Given the description of an element on the screen output the (x, y) to click on. 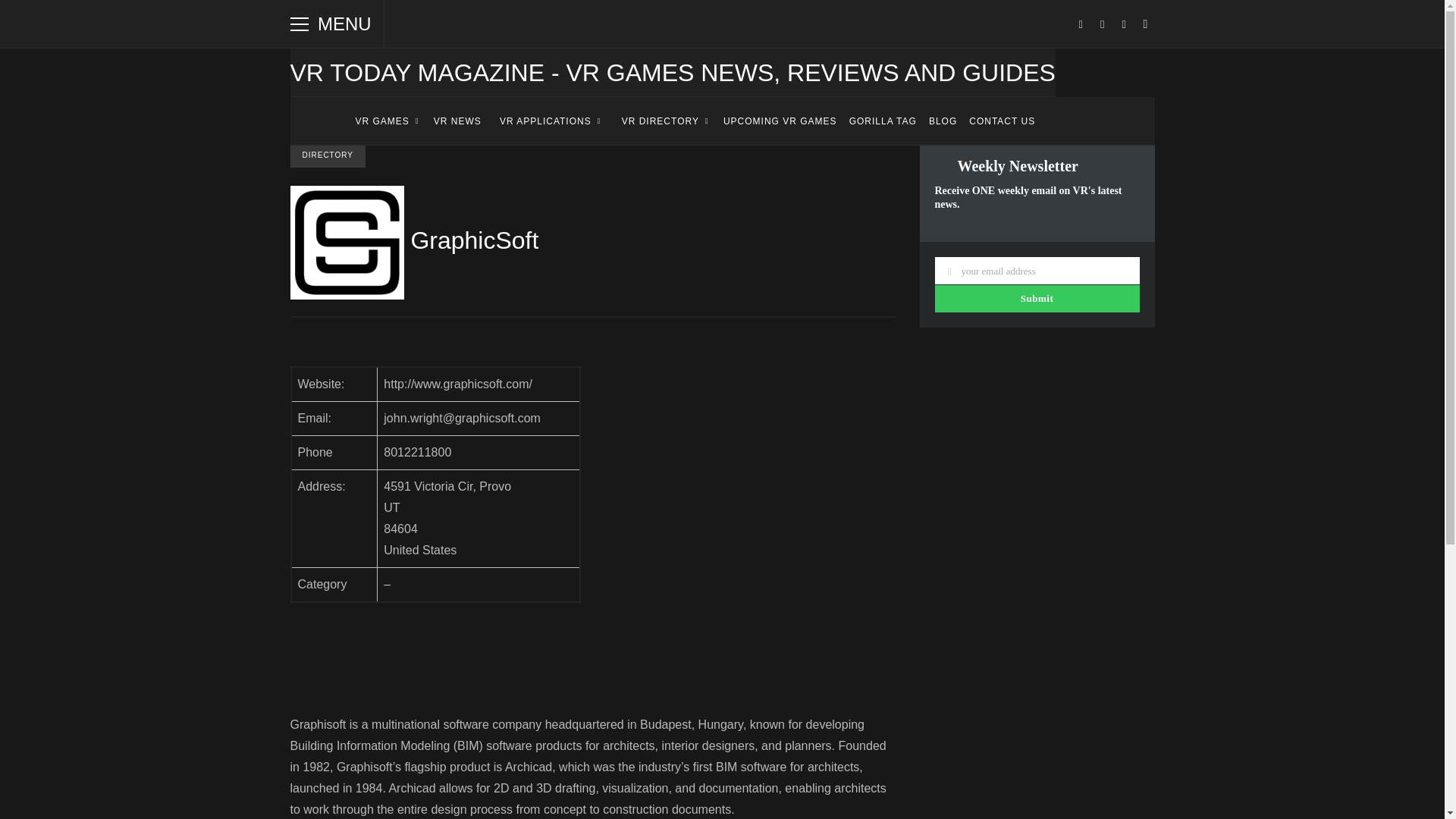
Upcoming VR Games 2024 (780, 121)
VR Business Directory (663, 121)
VR TODAY MAGAZINE - VR GAMES NEWS, REVIEWS AND GUIDES (671, 72)
VR Today Magazine -  VR Games News, Reviews and Guides (671, 72)
UPCOMING VR GAMES (780, 121)
Contact VR Today Magazine (1001, 121)
Latest News in the world of VR (457, 121)
VR GAMES (384, 121)
VR NEWS (457, 121)
VR Games Reviews and Curated Lists of the Best VR Games (384, 121)
CONTACT US (1001, 121)
GORILLA TAG (883, 121)
VR DIRECTORY (663, 121)
GraphicSoft (346, 242)
DIRECTORY (327, 155)
